Given the description of an element on the screen output the (x, y) to click on. 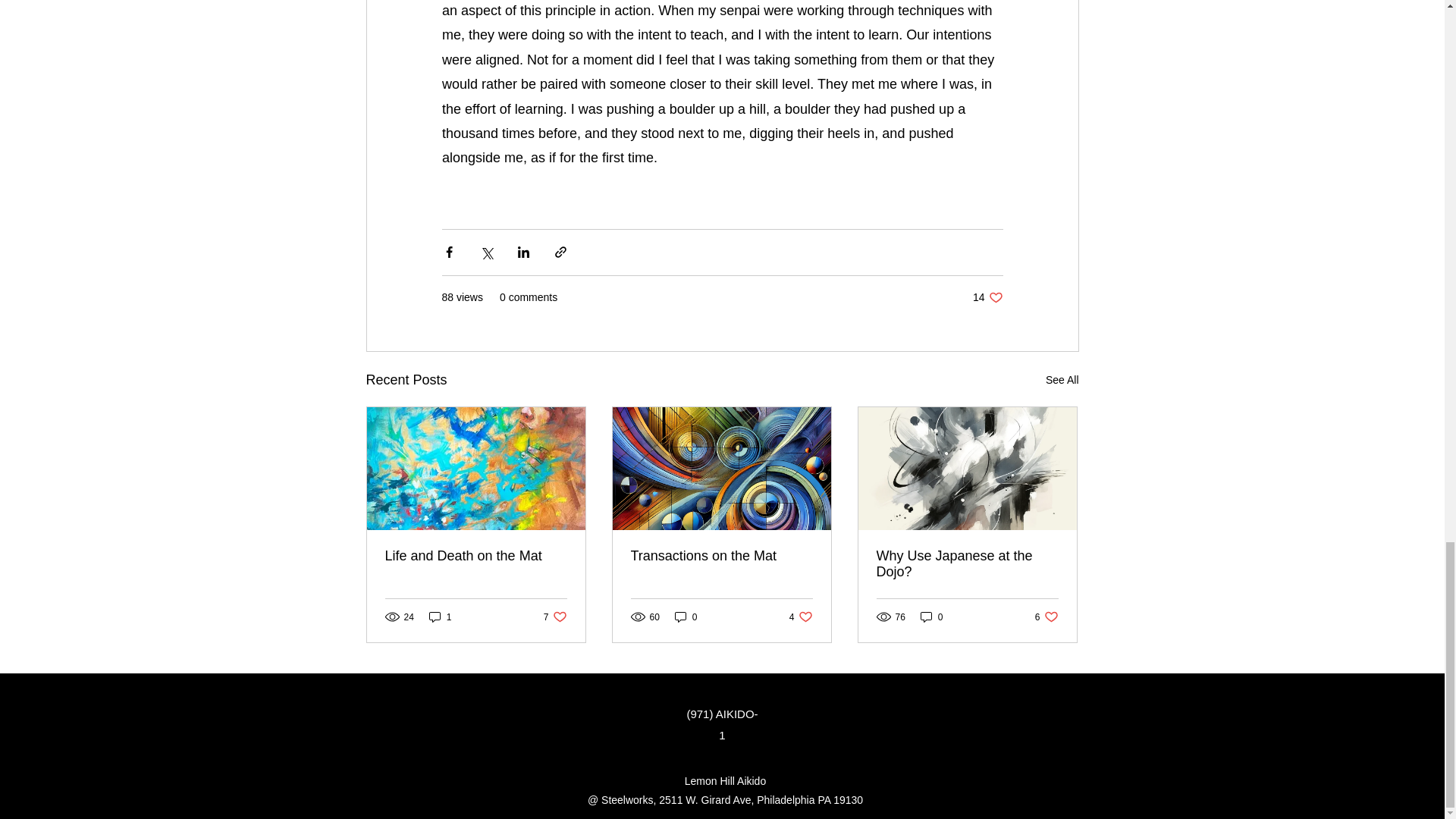
Why Use Japanese at the Dojo? (967, 563)
See All (1061, 380)
0 (987, 297)
0 (685, 616)
1 (1046, 616)
Transactions on the Mat (931, 616)
Life and Death on the Mat (800, 616)
